Given the description of an element on the screen output the (x, y) to click on. 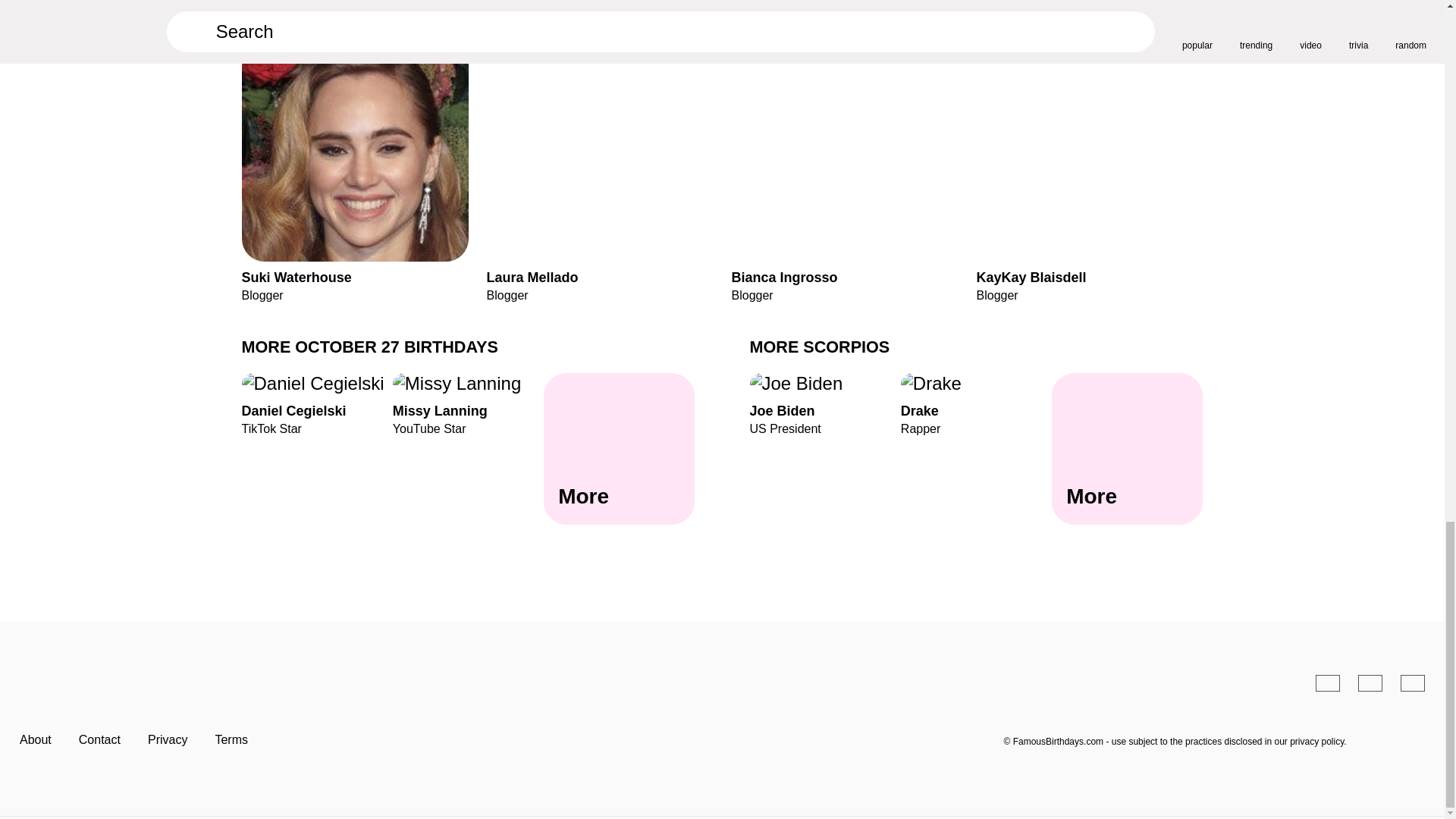
Portuguese (1369, 682)
French (1412, 682)
MORE OCTOBER 27 BIRTHDAYS (369, 346)
MORE SCORPIOS (819, 346)
More (618, 448)
Spanish (976, 403)
More (468, 403)
